Given the description of an element on the screen output the (x, y) to click on. 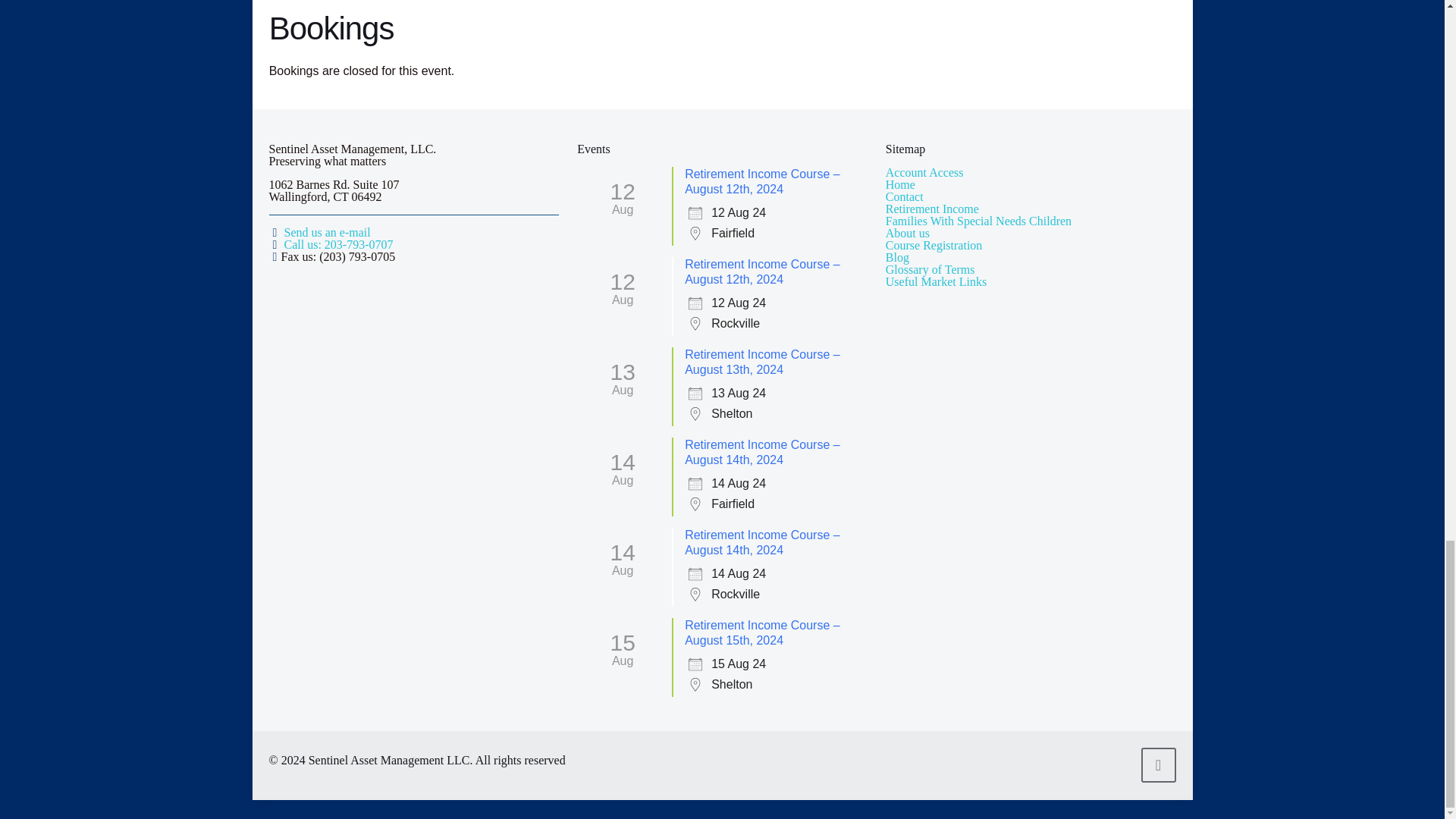
Instagram (1120, 760)
Home (900, 184)
Facebook (1056, 760)
Call us: 203-793-0707 (338, 244)
Pinterest (1103, 760)
Send us an e-mail (326, 232)
YouTube (1088, 760)
Account Access (924, 172)
